Given the description of an element on the screen output the (x, y) to click on. 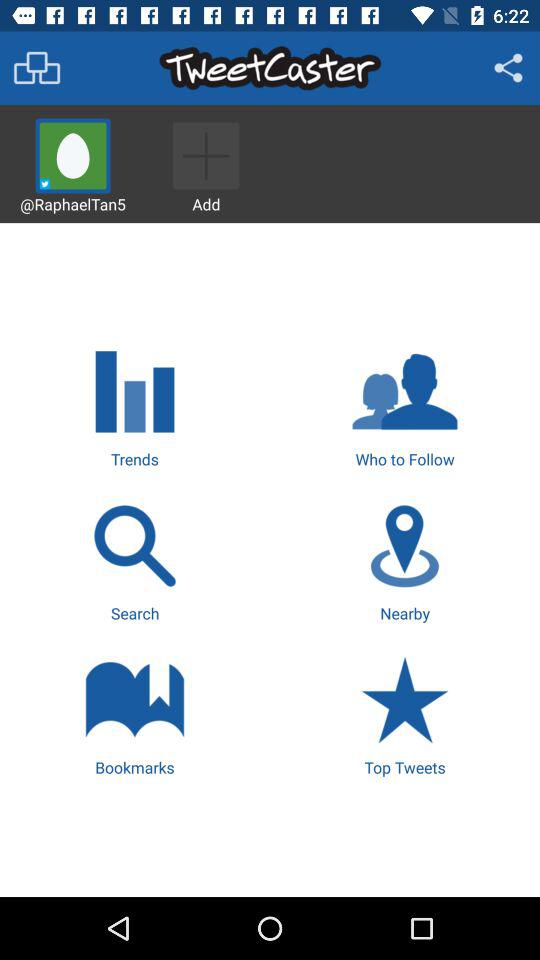
select the item below nearby icon (404, 714)
